Given the description of an element on the screen output the (x, y) to click on. 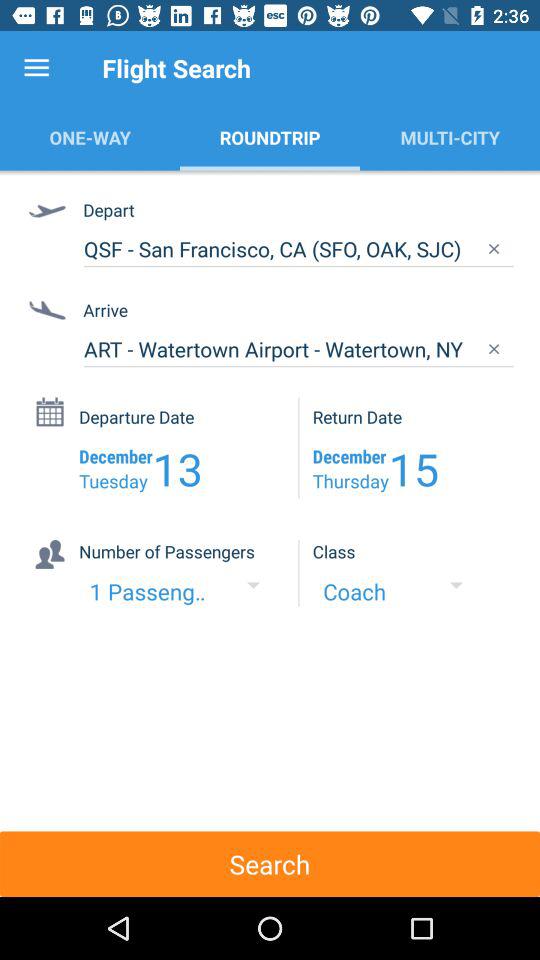
scroll until the art watertown airport icon (298, 349)
